Given the description of an element on the screen output the (x, y) to click on. 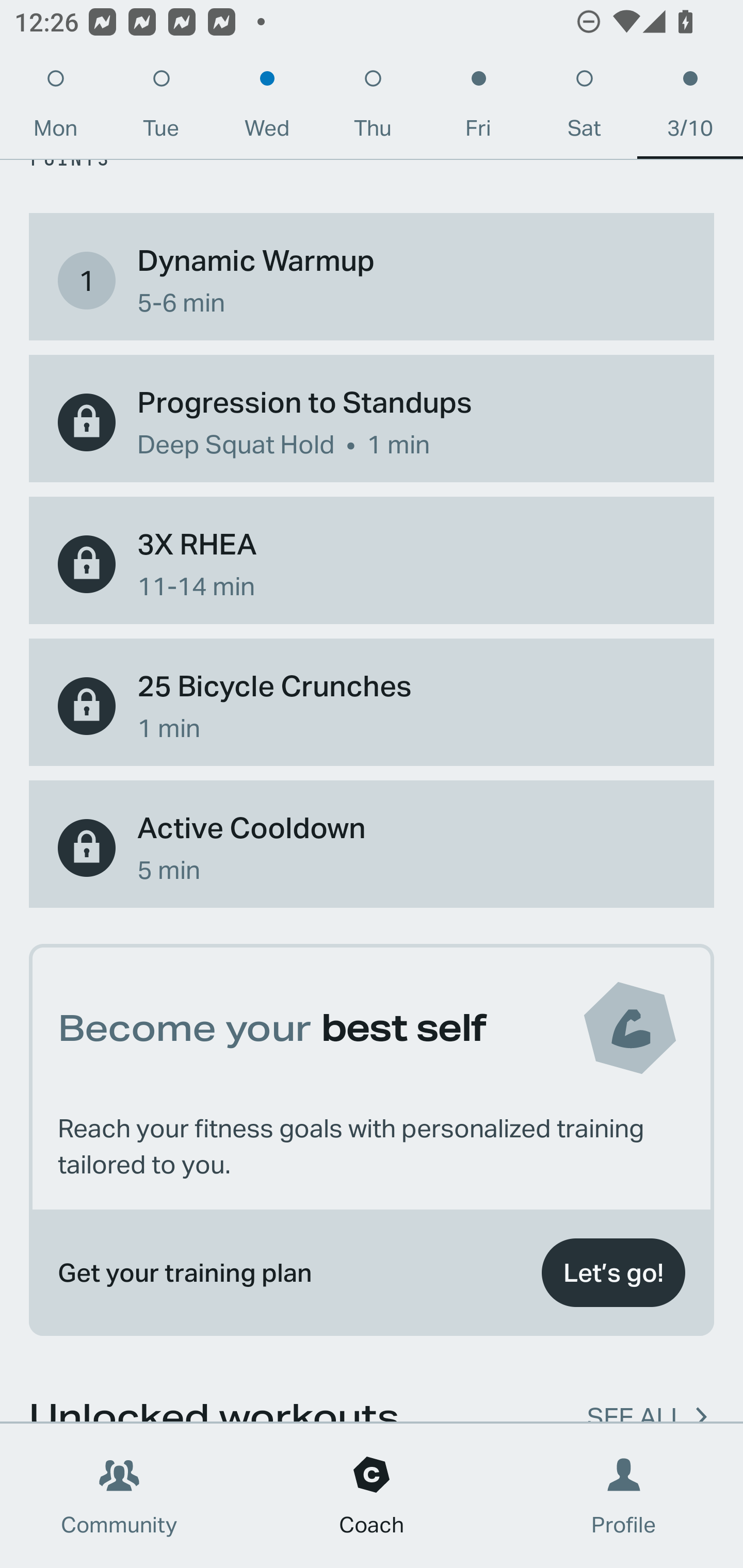
Mon (55, 108)
Tue (160, 108)
Wed (266, 108)
Thu (372, 108)
Fri (478, 108)
Sat (584, 108)
3/10 (690, 108)
1 Dynamic Warmup 5-6 min (371, 280)
Progression to Standups Deep Squat Hold  •  1 min (371, 422)
3X RHEA 11-14 min (371, 564)
25 Bicycle Crunches 1 min (371, 706)
Active Cooldown 5 min (371, 847)
Let’s go! (613, 1272)
Community (119, 1495)
Profile (624, 1495)
